Given the description of an element on the screen output the (x, y) to click on. 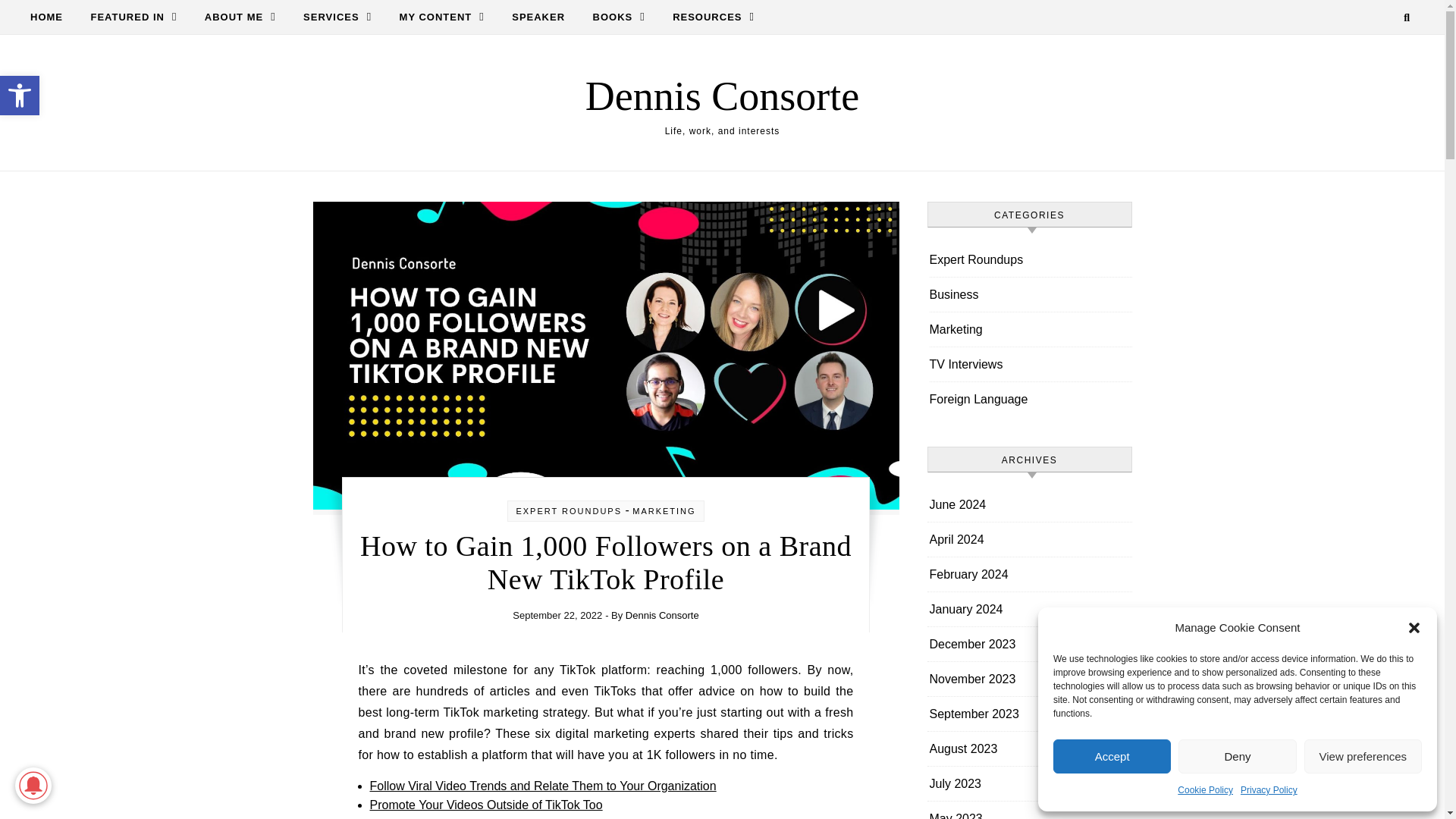
Accept (1111, 756)
Light Background (19, 95)
Light Background (52, 17)
Cookie Policy (337, 17)
Reset (1205, 790)
